Given the description of an element on the screen output the (x, y) to click on. 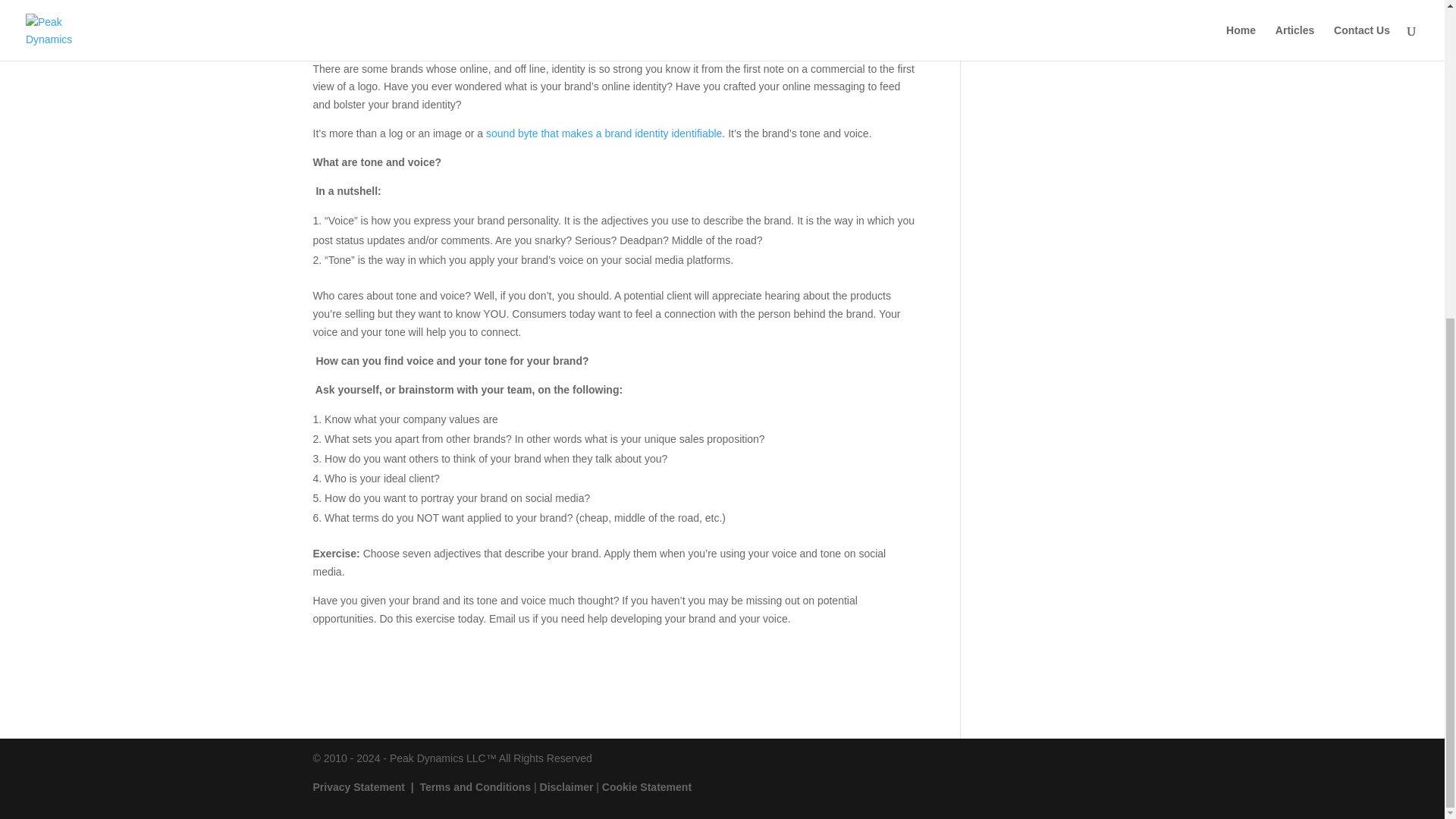
Cookie Statement (646, 787)
Disclaimer (567, 787)
Terms and Conditions (475, 787)
sound byte that makes a brand identity identifiable (604, 133)
